Given the description of an element on the screen output the (x, y) to click on. 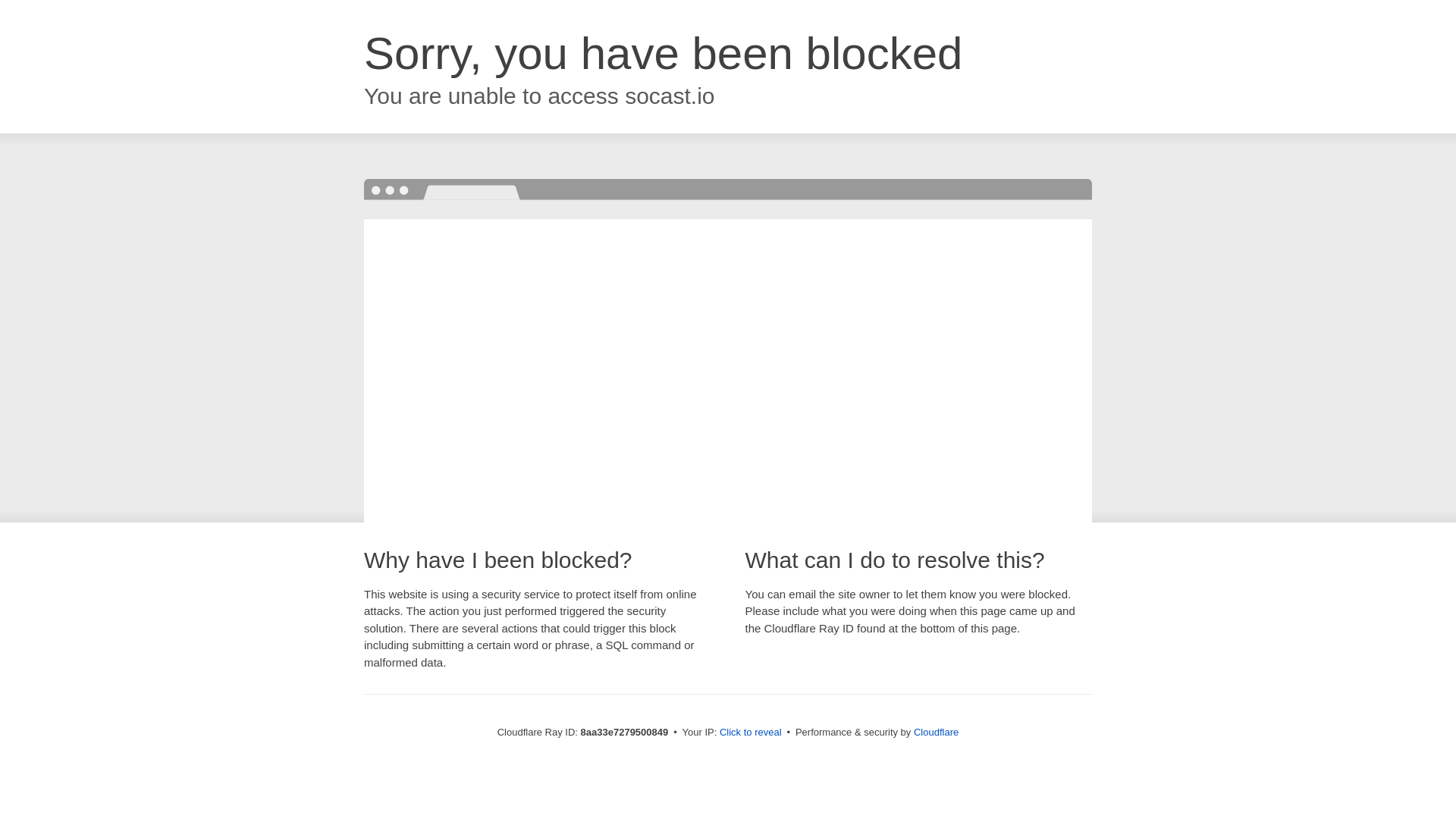
Click to reveal (750, 732)
Cloudflare (936, 731)
